Given the description of an element on the screen output the (x, y) to click on. 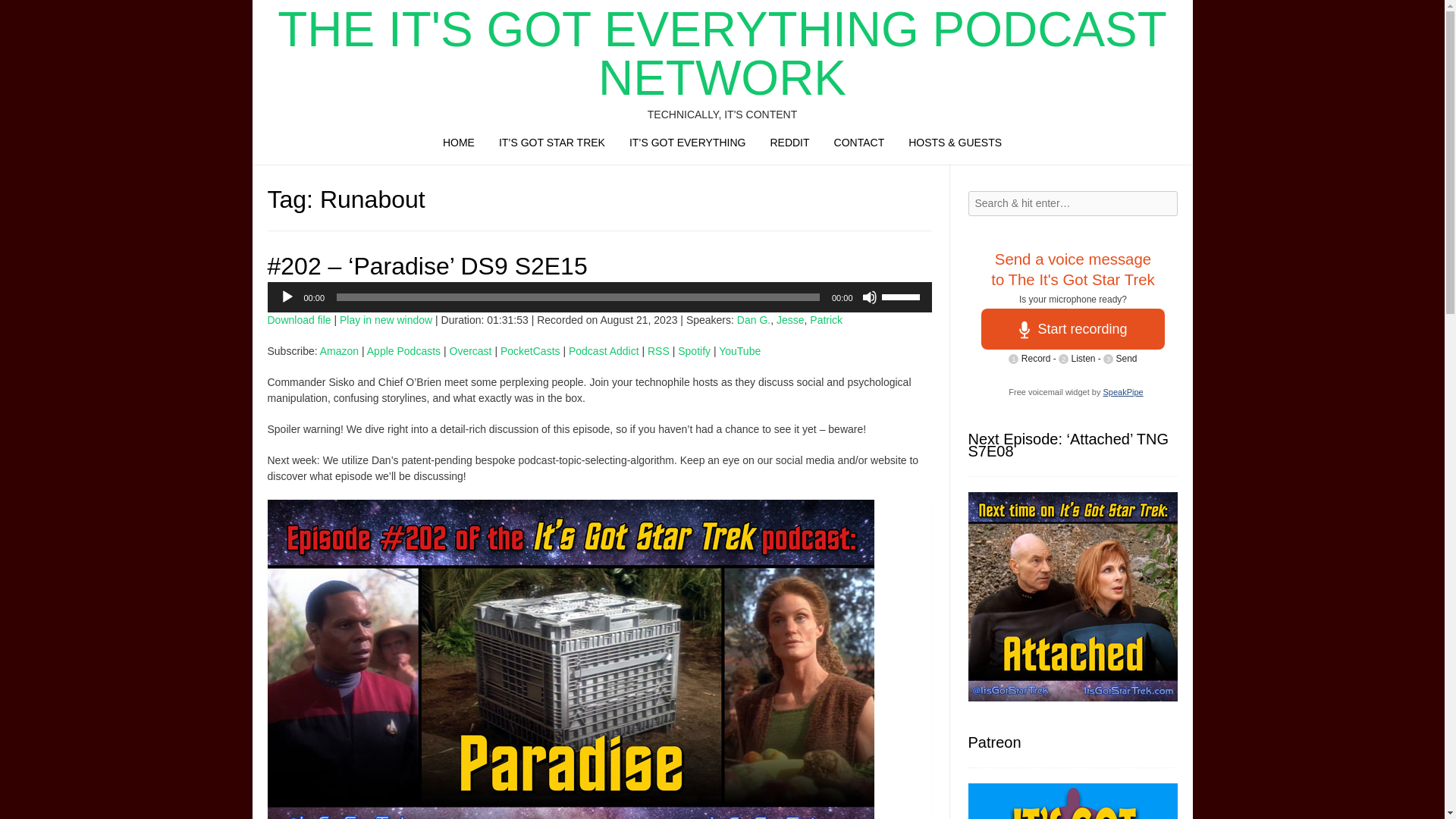
HOME (458, 145)
Amazon (339, 350)
Apple Podcasts (403, 350)
Overcast (470, 350)
THE IT'S GOT EVERYTHING PODCAST NETWORK (721, 53)
Download file (298, 319)
REDDIT (789, 145)
Play (286, 296)
PocketCasts (530, 350)
Mute (868, 296)
